Given the description of an element on the screen output the (x, y) to click on. 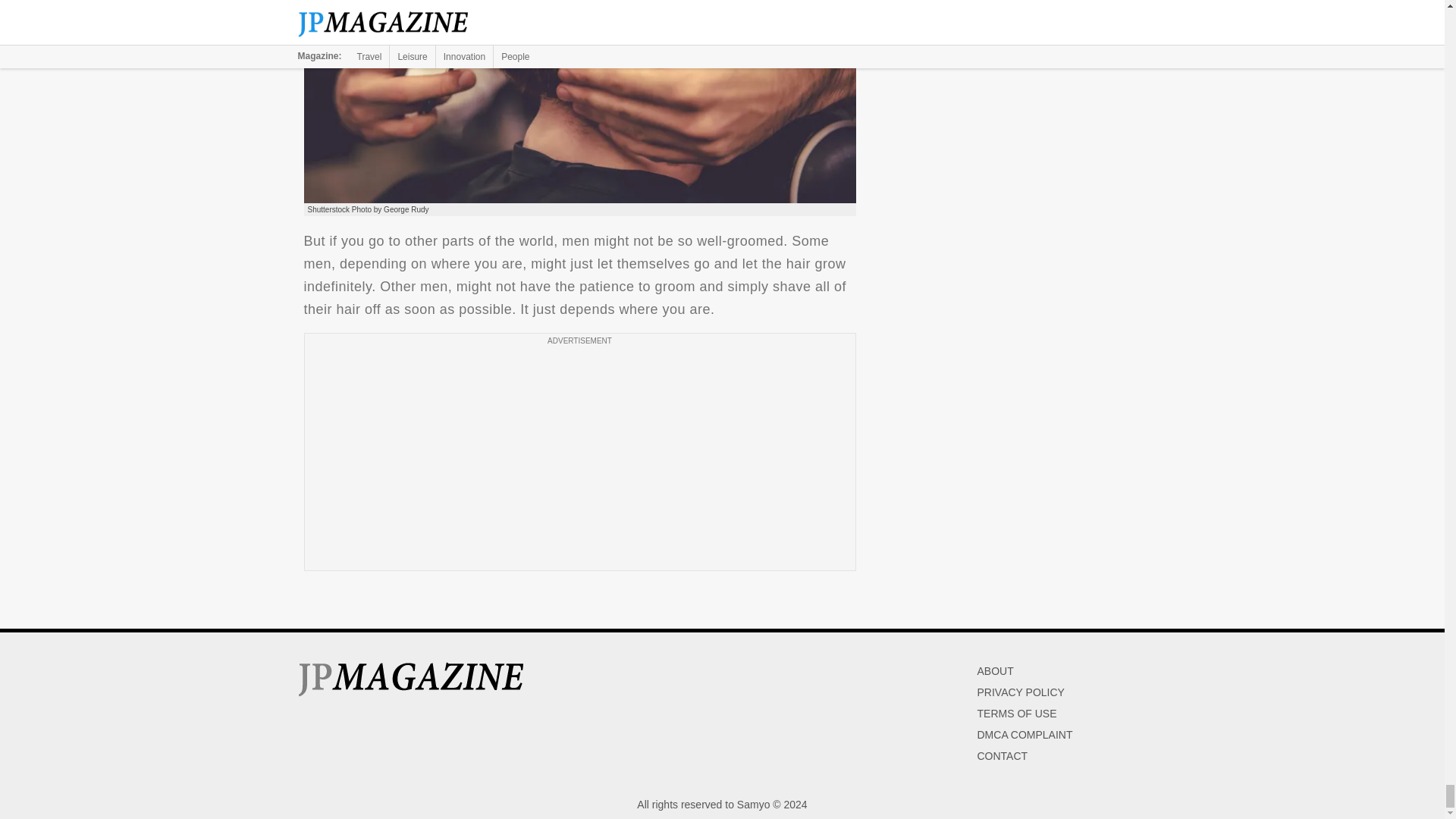
ABOUT (994, 671)
TERMS OF USE (1016, 713)
CONTACT (1001, 756)
PRIVACY POLICY (1020, 692)
DMCA COMPLAINT (1023, 734)
